Given the description of an element on the screen output the (x, y) to click on. 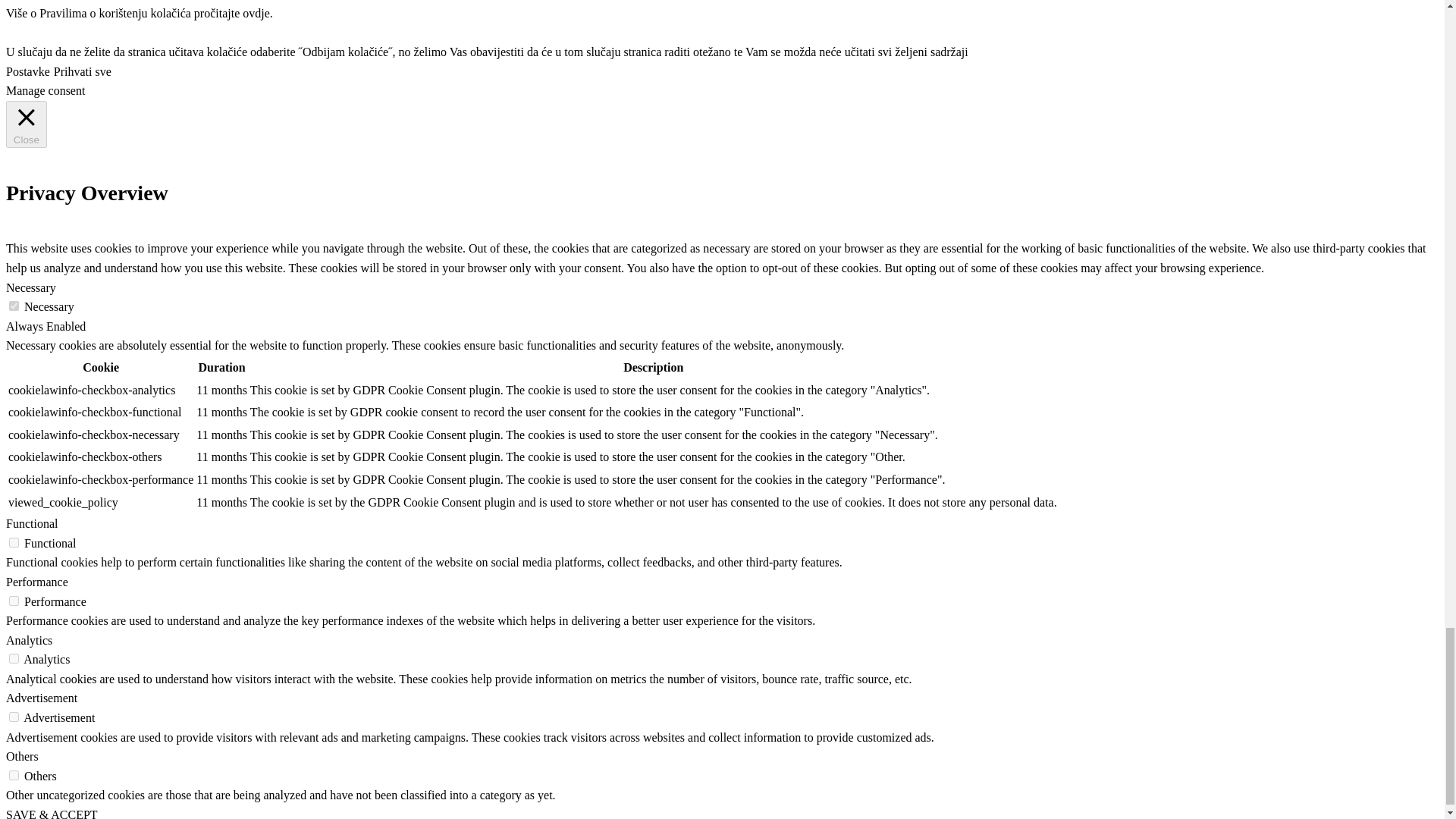
on (13, 306)
on (13, 716)
on (13, 600)
on (13, 775)
on (13, 658)
on (13, 542)
